Given the description of an element on the screen output the (x, y) to click on. 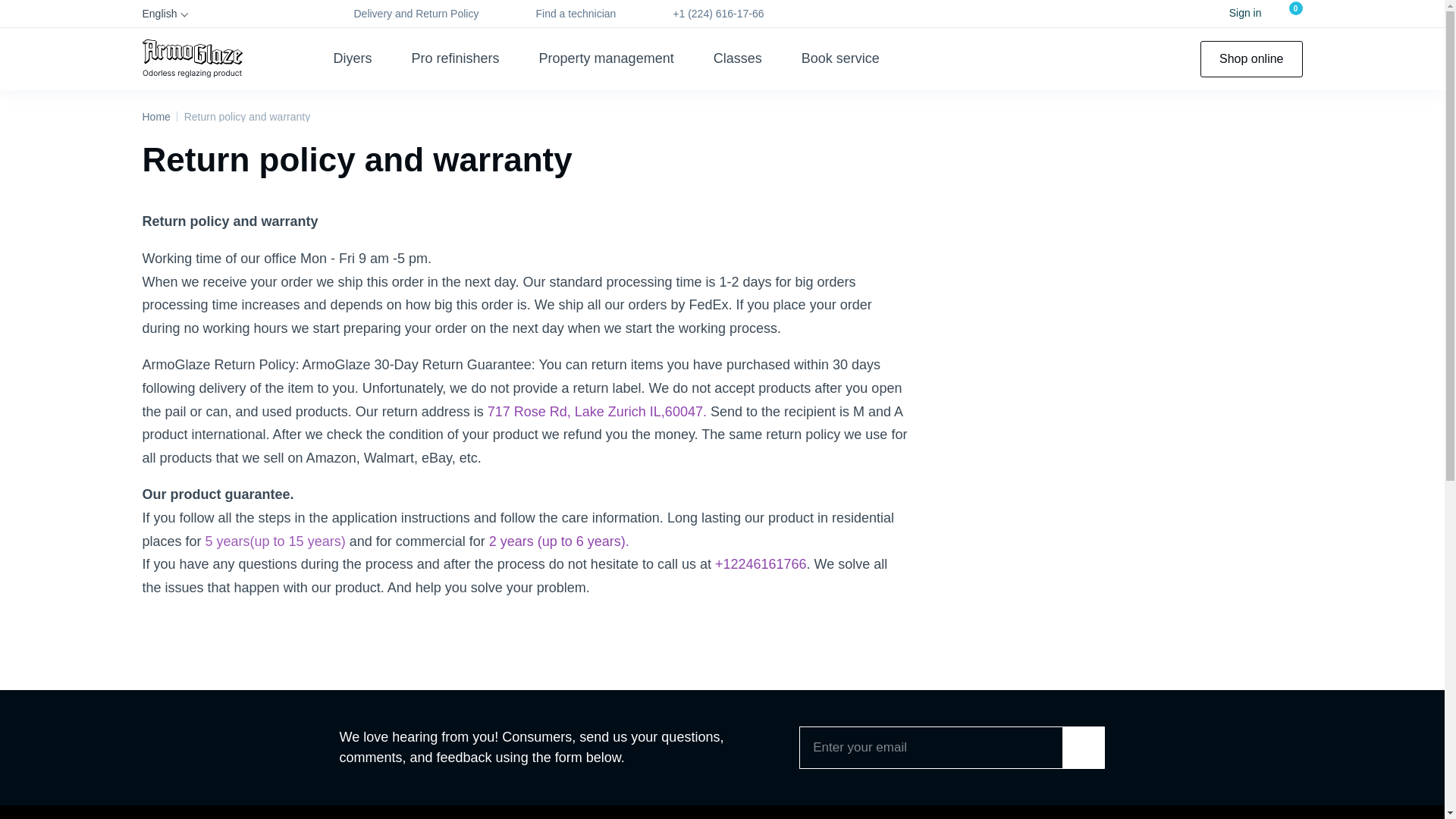
Classes (737, 58)
Find a technician (565, 13)
Call us (707, 13)
Basket (1291, 13)
Book service (840, 58)
Shop online (1251, 58)
pro refinishers (455, 58)
Book service (840, 58)
diyers (352, 58)
Home (156, 116)
Login (1235, 13)
Delivery and Return Policy (406, 13)
Sign in (1235, 13)
English (168, 13)
Shop online (1251, 58)
